Given the description of an element on the screen output the (x, y) to click on. 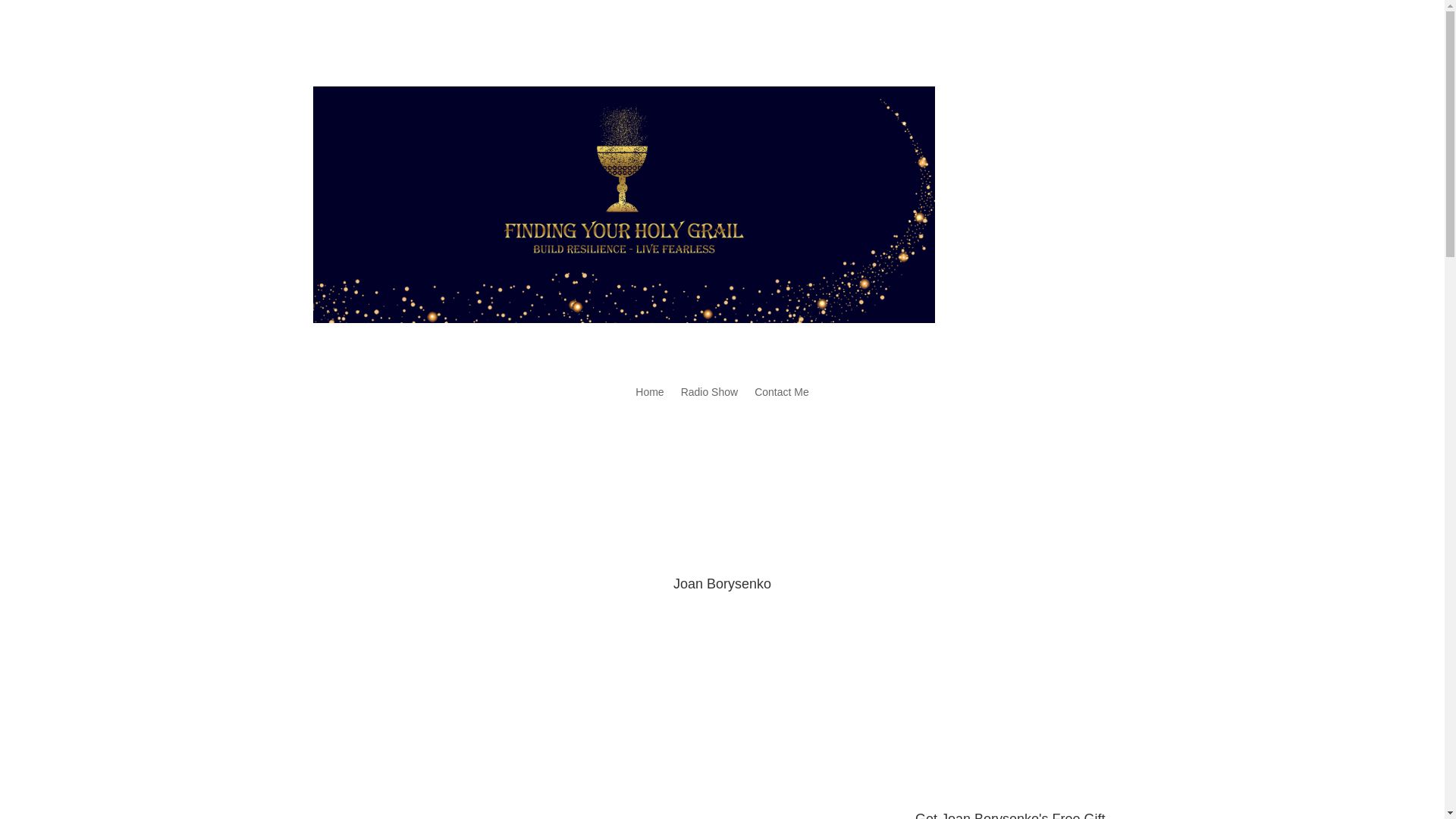
Joan Borysenko (578, 815)
Radio Show (709, 394)
Home (648, 394)
Contact Me (781, 394)
